Given the description of an element on the screen output the (x, y) to click on. 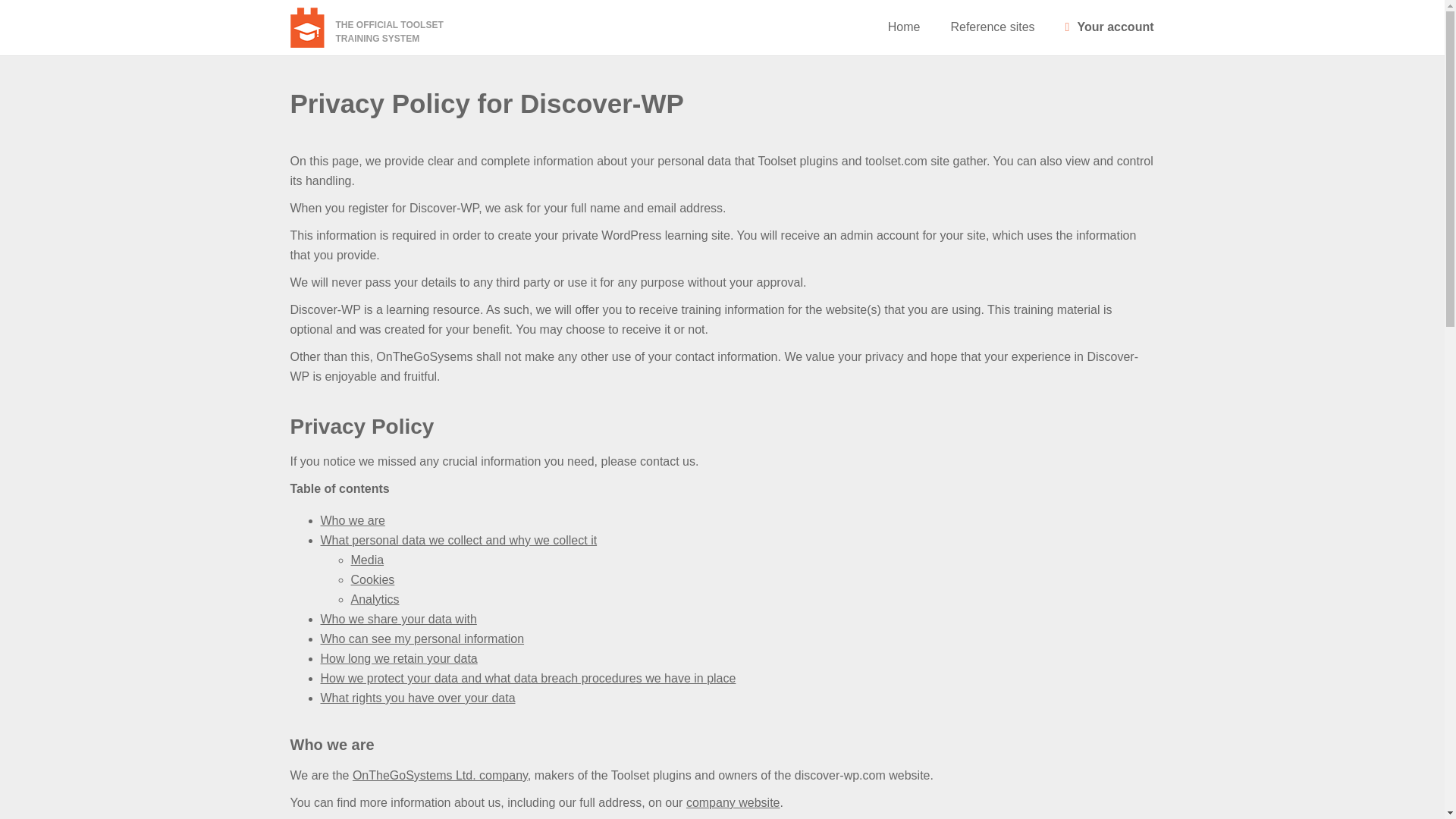
company website (732, 802)
Reference sites (991, 26)
Home (904, 26)
Your account (1109, 26)
Media (367, 559)
What rights you have over your data (417, 697)
Analytics (389, 27)
Who we share your data with (374, 599)
Who we are (398, 618)
How long we retain your data (352, 520)
Cookies (398, 658)
OnTheGoSystems Ltd. company (372, 579)
Who can see my personal information (439, 775)
